Given the description of an element on the screen output the (x, y) to click on. 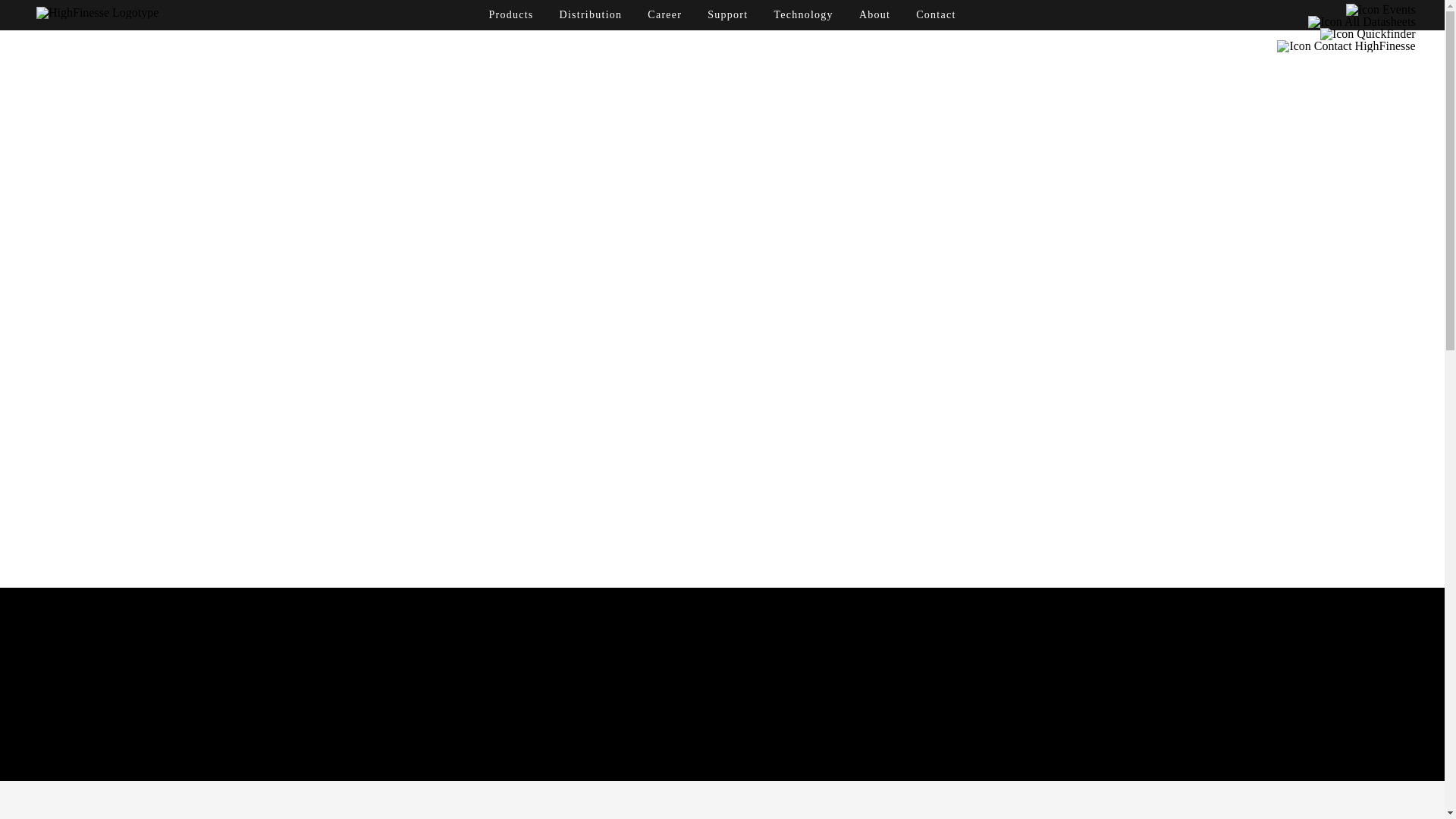
About (874, 14)
Contact (935, 14)
Back to Homepage (97, 12)
Events (1380, 9)
Support (727, 14)
Career (664, 14)
Contact HighFinesse (1345, 46)
All Datasheets (1361, 21)
Quickfinder (1367, 33)
Technology (802, 14)
